Given the description of an element on the screen output the (x, y) to click on. 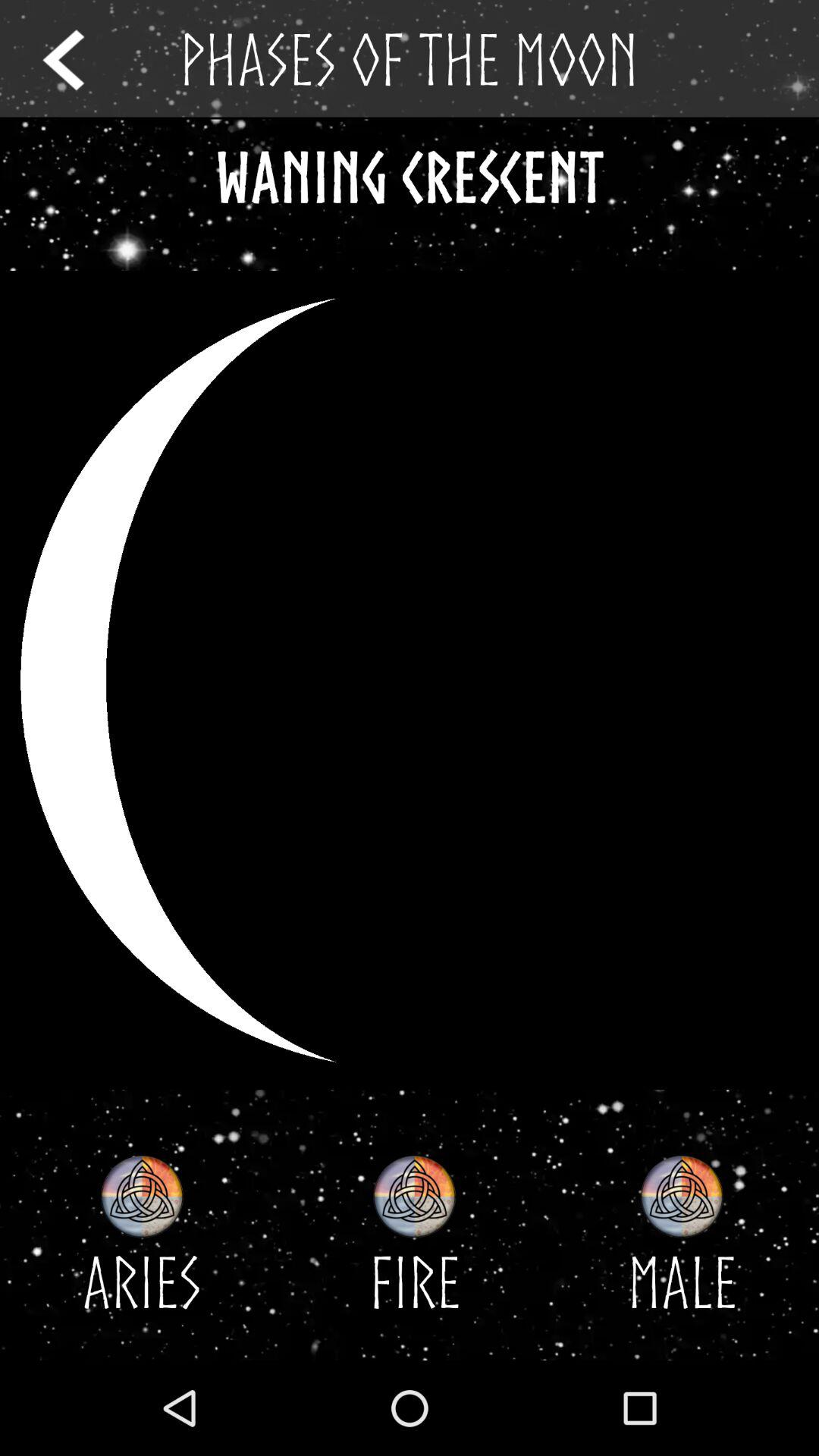
go previous page (77, 59)
